Given the description of an element on the screen output the (x, y) to click on. 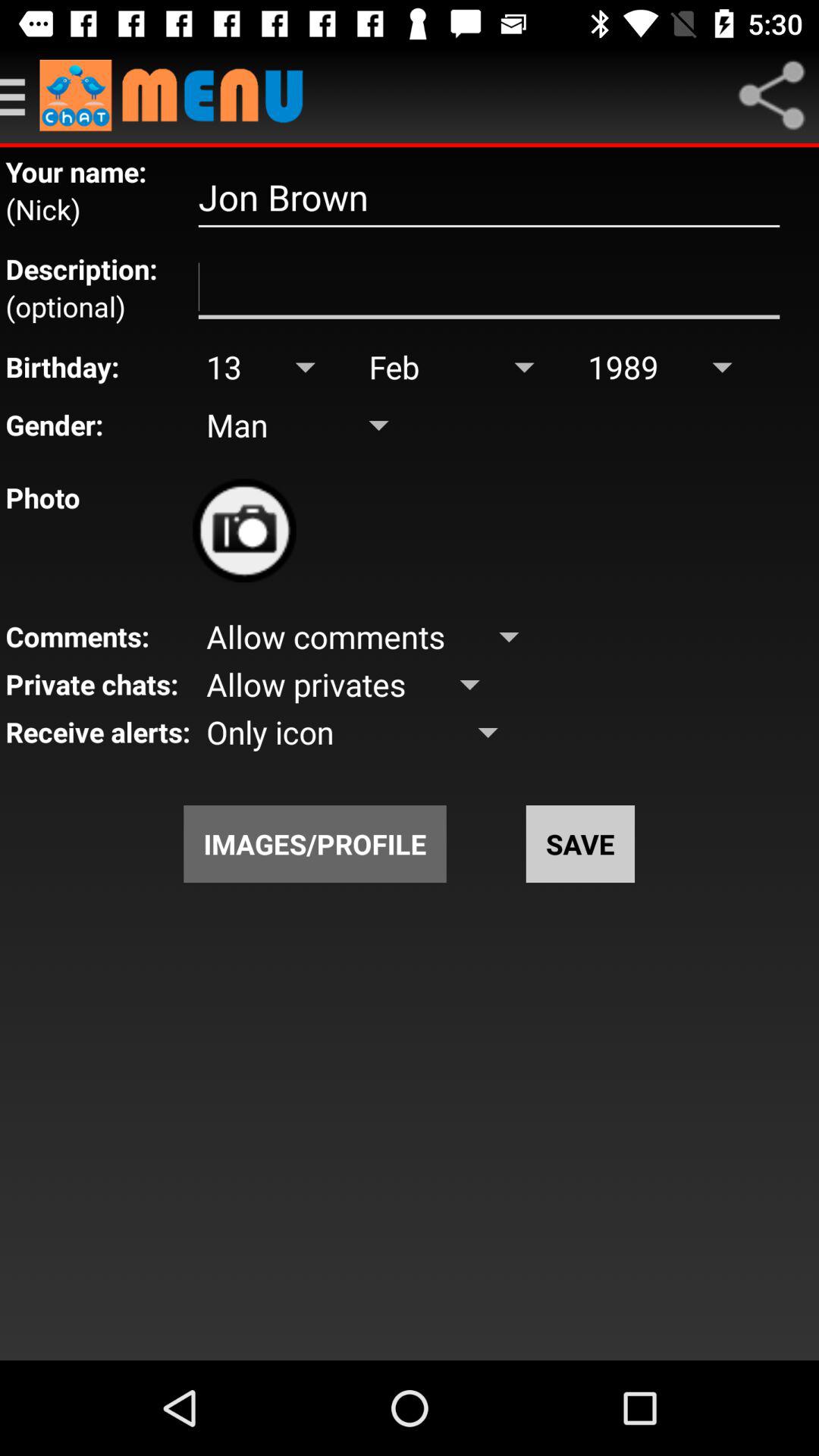
type description in description box (488, 287)
